Given the description of an element on the screen output the (x, y) to click on. 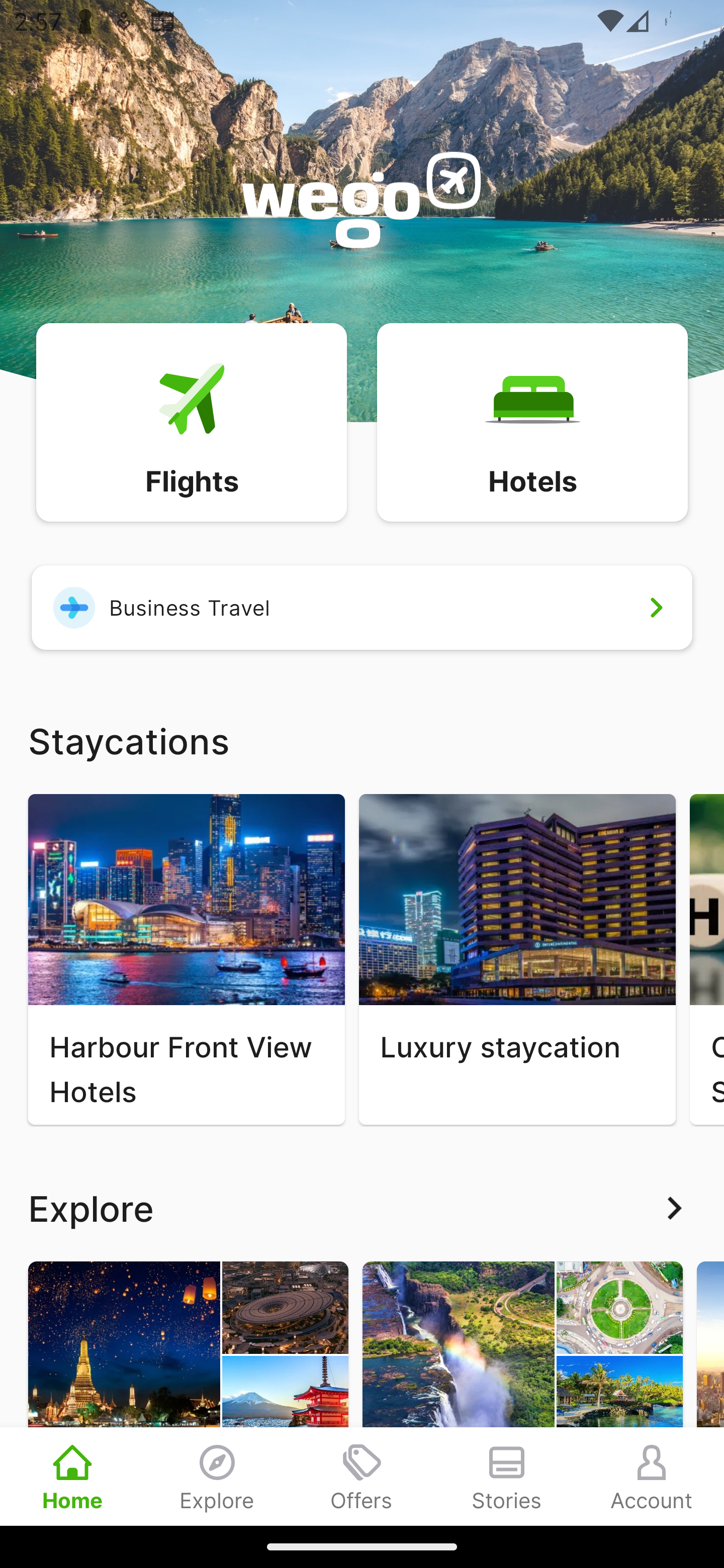
Flights (191, 420)
Hotels (532, 420)
Business Travel (361, 607)
Staycations (362, 739)
Harbour Front View Hotels (186, 958)
Luxury staycation (517, 958)
Explore (362, 1207)
Popular Destinations (188, 1392)
Visa-free Countries (522, 1392)
Explore (216, 1475)
Offers (361, 1475)
Stories (506, 1475)
Account (651, 1475)
